Given the description of an element on the screen output the (x, y) to click on. 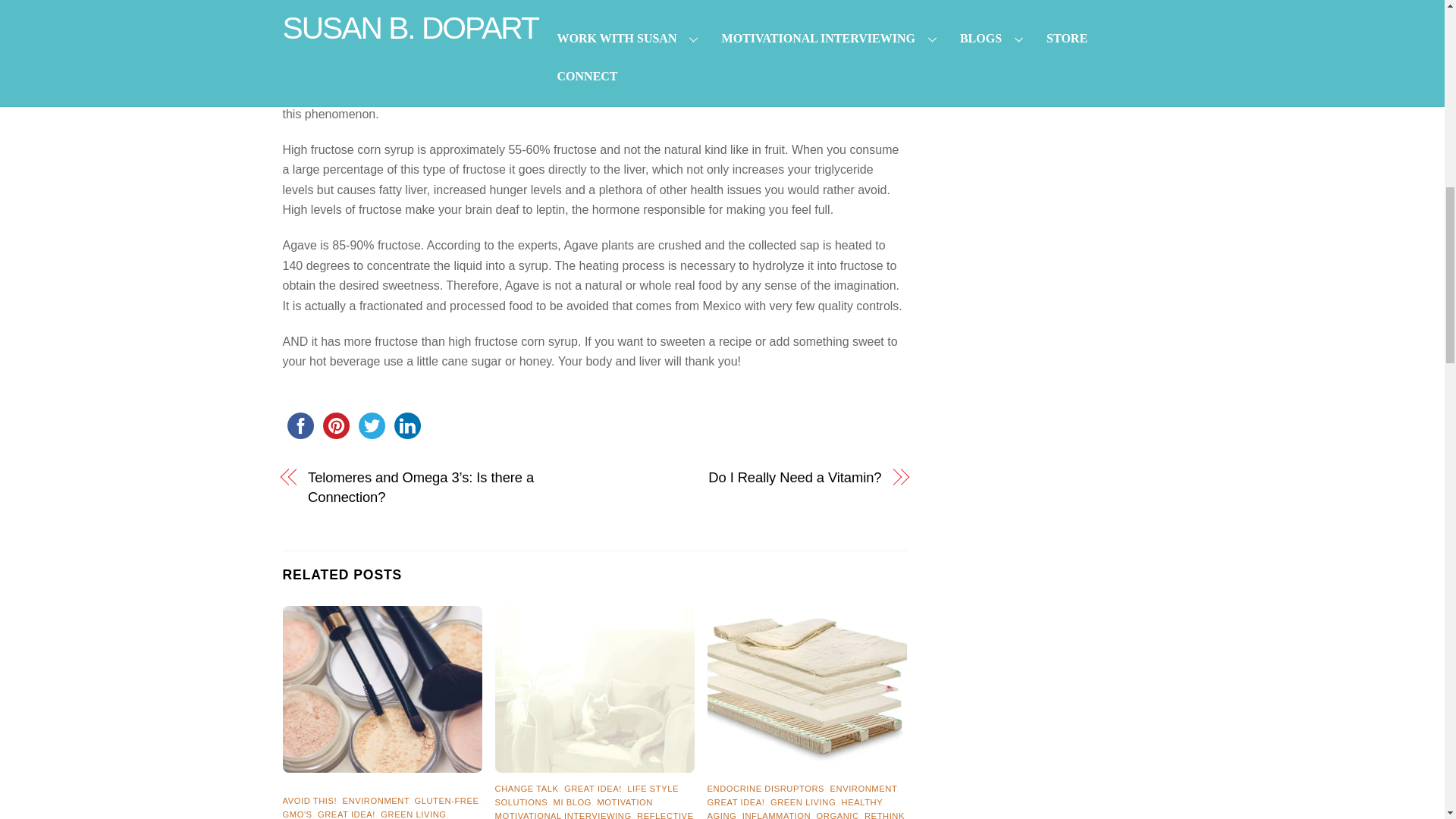
linkedin (407, 425)
twitter (370, 425)
GMO'S (296, 814)
samina-sleep-system1.jpg (807, 689)
GLUTEN-FREE (446, 800)
Do I Really Need a Vitamin? (746, 477)
facebook (299, 425)
GREAT IDEA! (346, 814)
ENVIRONMENT (375, 800)
